Given the description of an element on the screen output the (x, y) to click on. 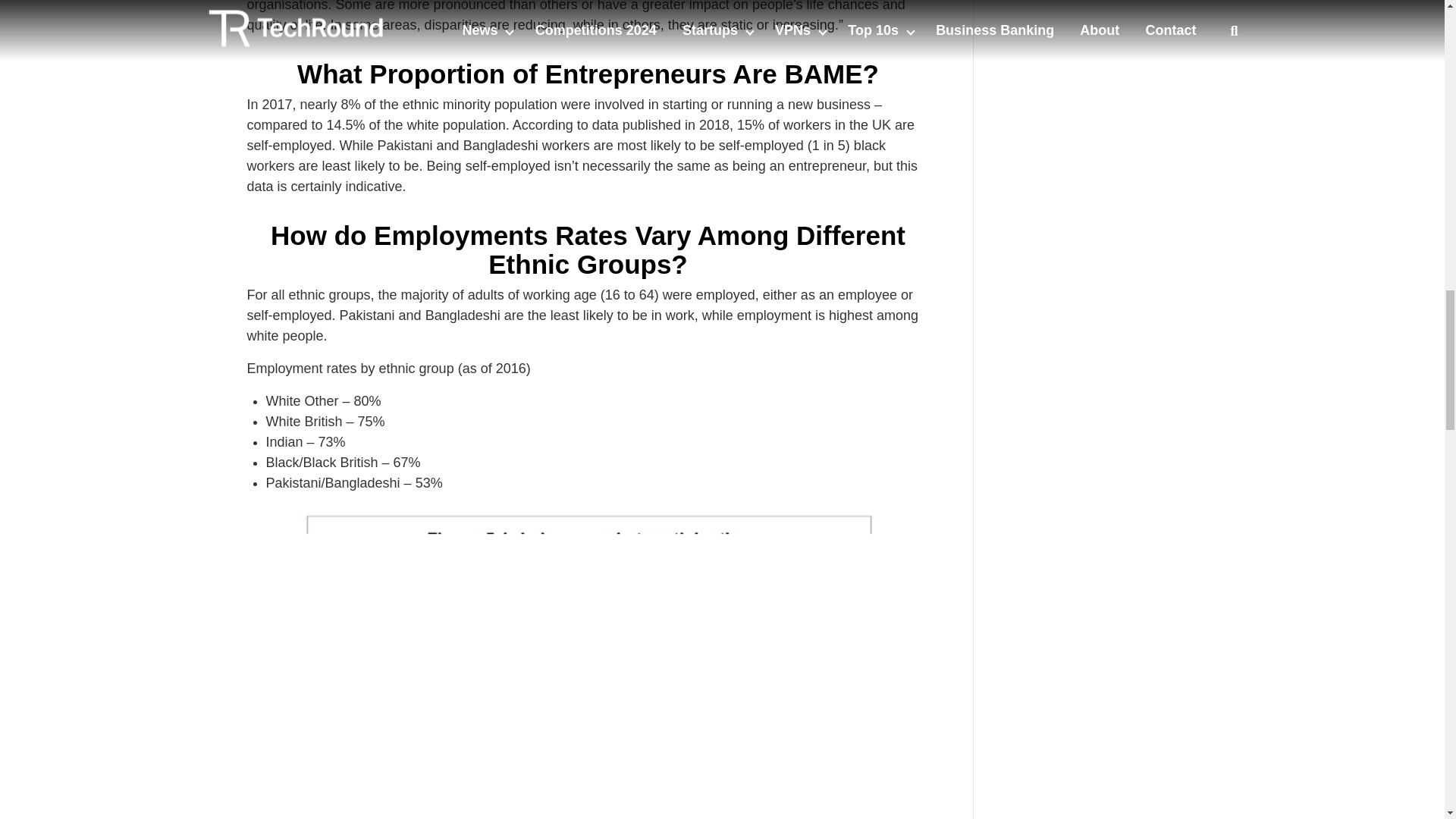
Enter The BAME Top 50 Entrepreneurs - Deadline 10th Nov 2021 (1107, 17)
